Given the description of an element on the screen output the (x, y) to click on. 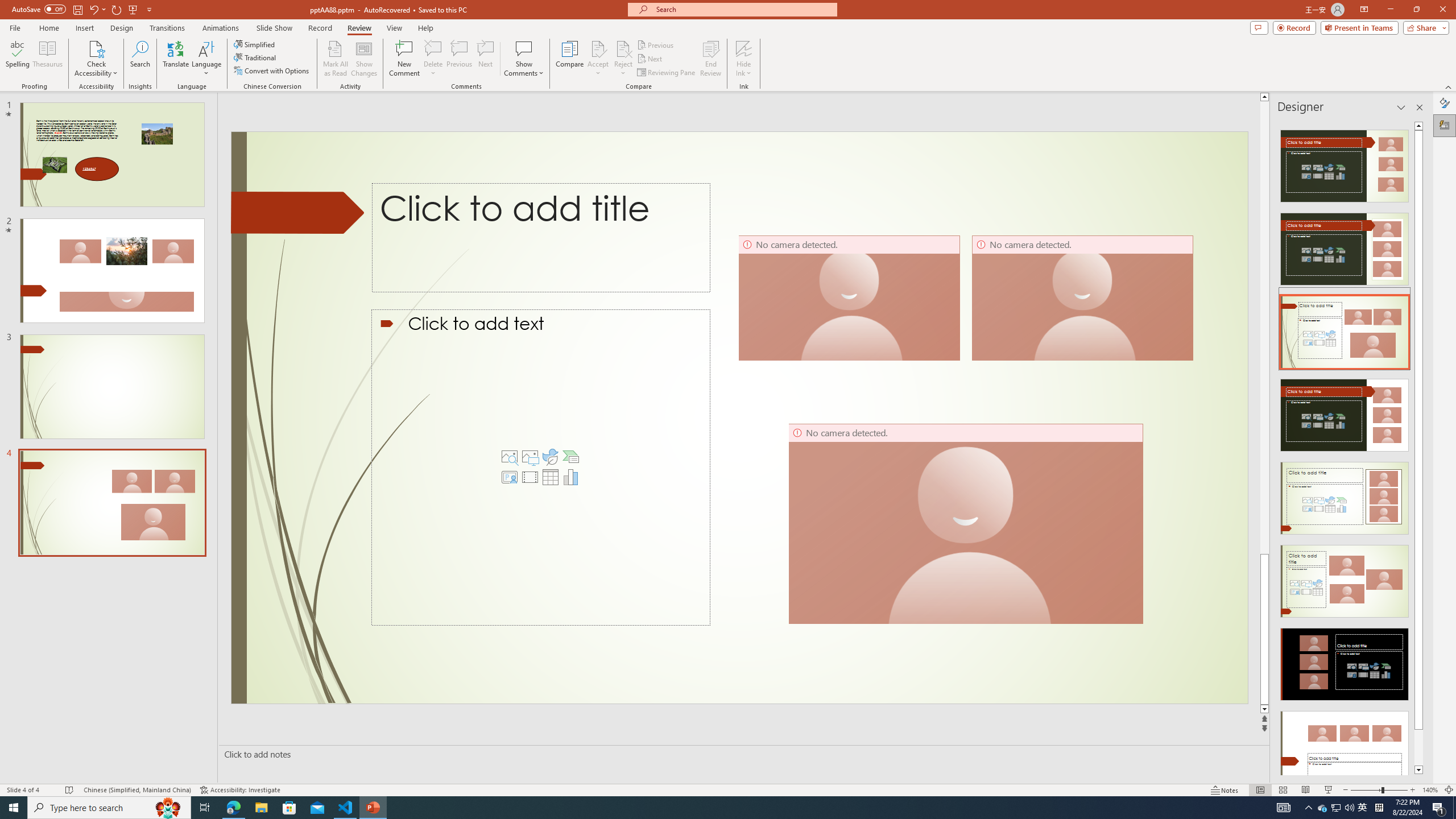
Convert with Options... (272, 69)
Recommended Design: Design Idea (1344, 162)
Insert a SmartArt Graphic (570, 456)
Simplified (254, 44)
Reject (622, 58)
Show Comments (524, 58)
Mark All as Read (335, 58)
